Given the description of an element on the screen output the (x, y) to click on. 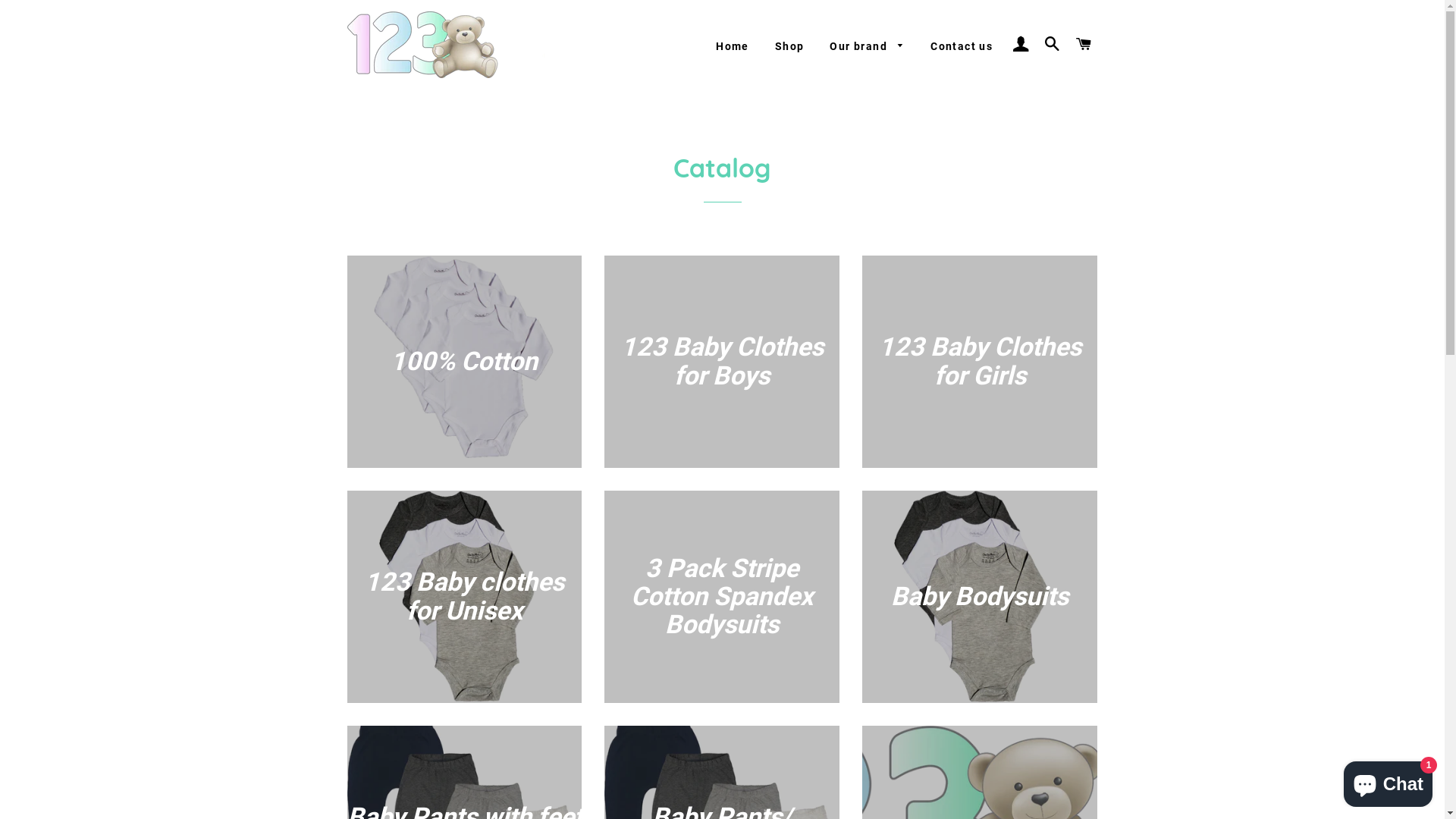
Shopify online store chat Element type: hover (1388, 780)
Log In Element type: text (1021, 44)
100% Cotton Element type: text (464, 361)
Contact us Element type: text (961, 46)
Cart Element type: text (1083, 44)
Baby Bodysuits Element type: text (979, 596)
123 Baby Clothes for Boys Element type: text (721, 361)
123 Baby Clothes for Girls Element type: text (979, 361)
Home Element type: text (732, 46)
Shop Element type: text (789, 46)
123 Baby clothes for Unisex Element type: text (464, 596)
Search Element type: text (1052, 44)
Our brand Element type: text (867, 46)
3 Pack Stripe Cotton Spandex Bodysuits Element type: text (721, 596)
